Given the description of an element on the screen output the (x, y) to click on. 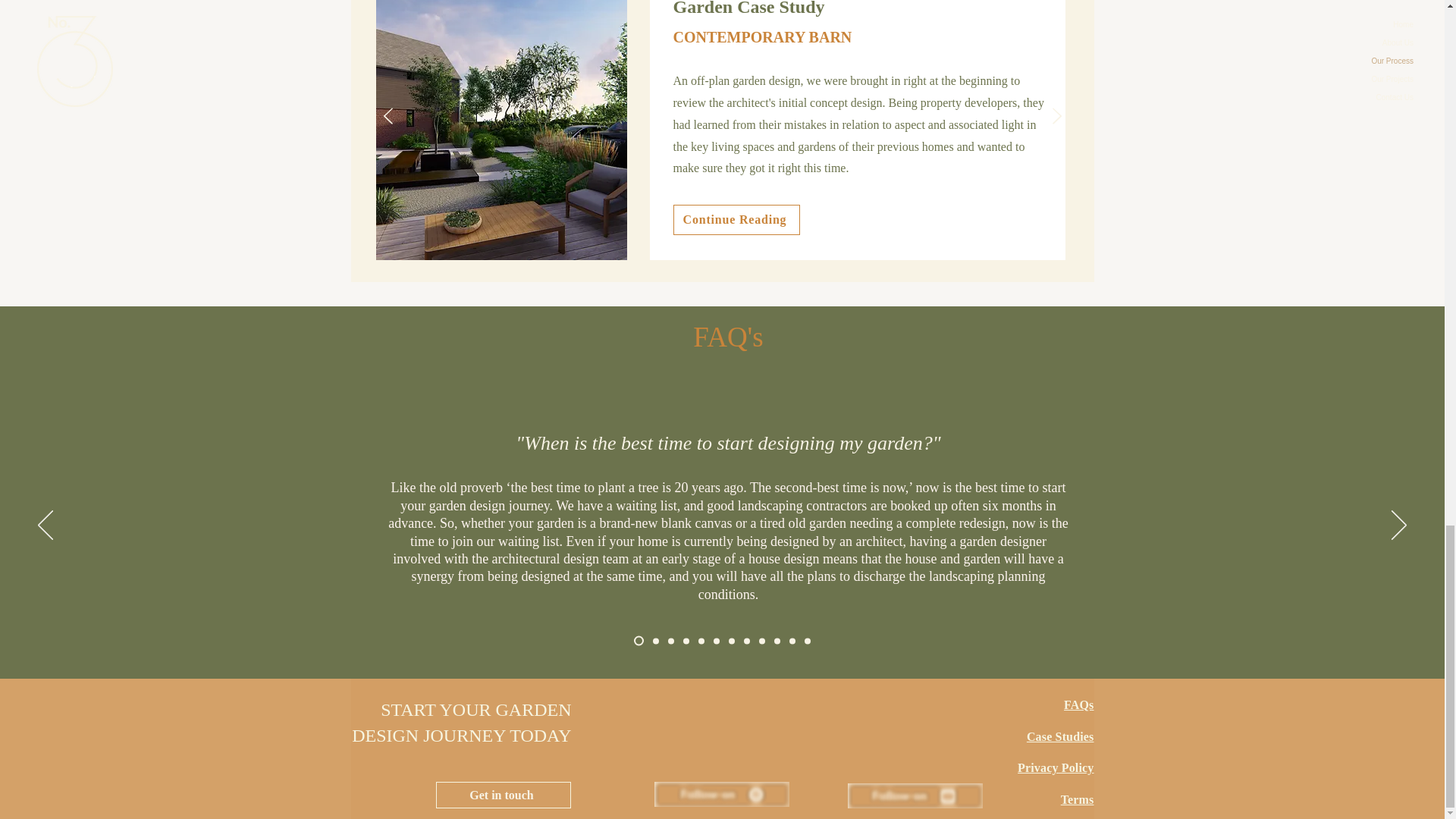
FAQs (1078, 704)
Case Studies (1060, 744)
Continue Reading (735, 219)
Get in touch (502, 795)
